Given the description of an element on the screen output the (x, y) to click on. 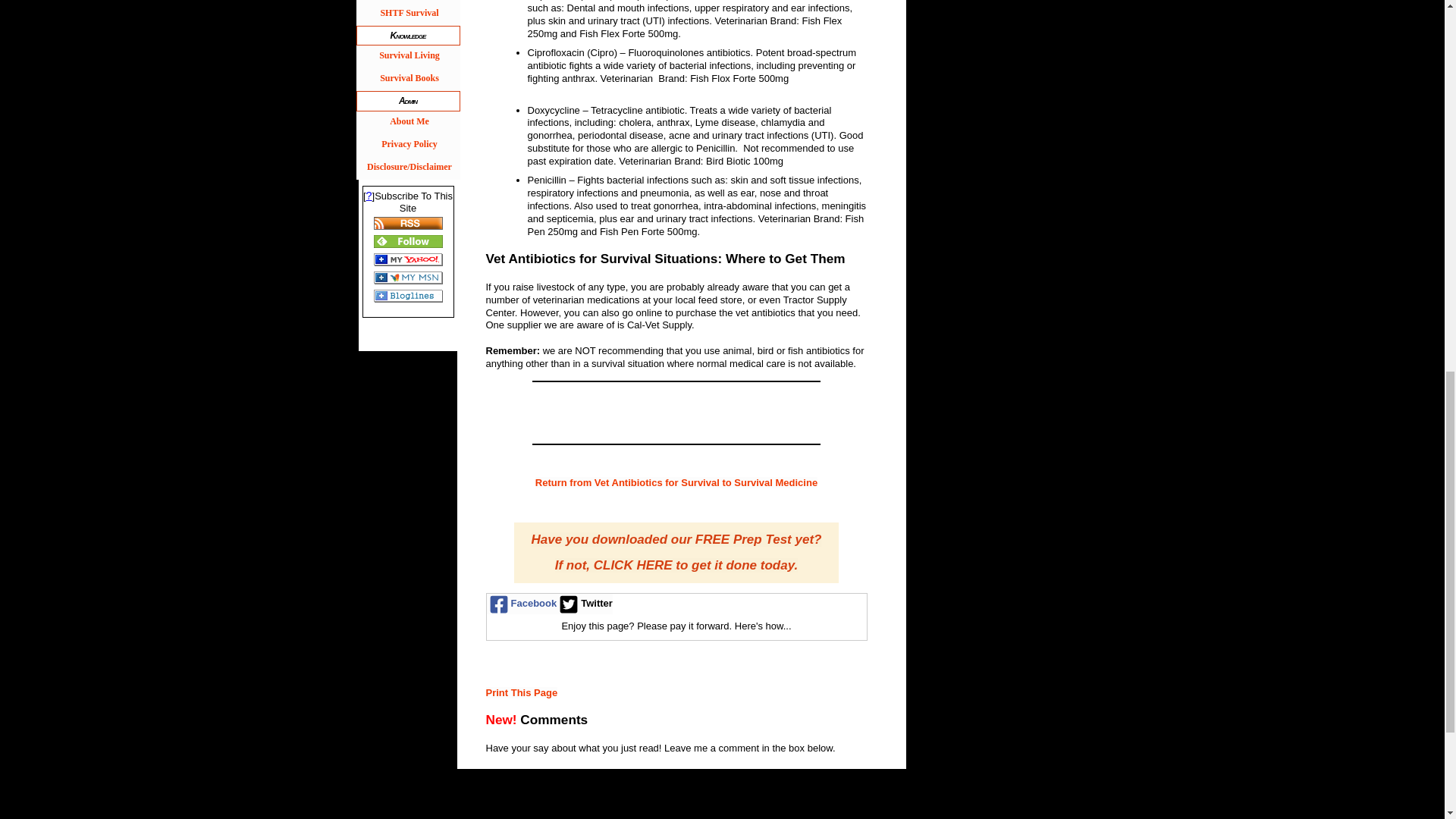
Survival Living (408, 56)
Advertisement (721, 794)
About Me (408, 122)
Survival Books (408, 78)
If not, CLICK HERE to get it done today. (675, 566)
Print This Page (520, 692)
Facebook (521, 603)
SHTF Survival (408, 14)
Survival Team (408, 1)
Twitter (584, 603)
Have you downloaded our FREE Prep Test yet? (676, 540)
